Given the description of an element on the screen output the (x, y) to click on. 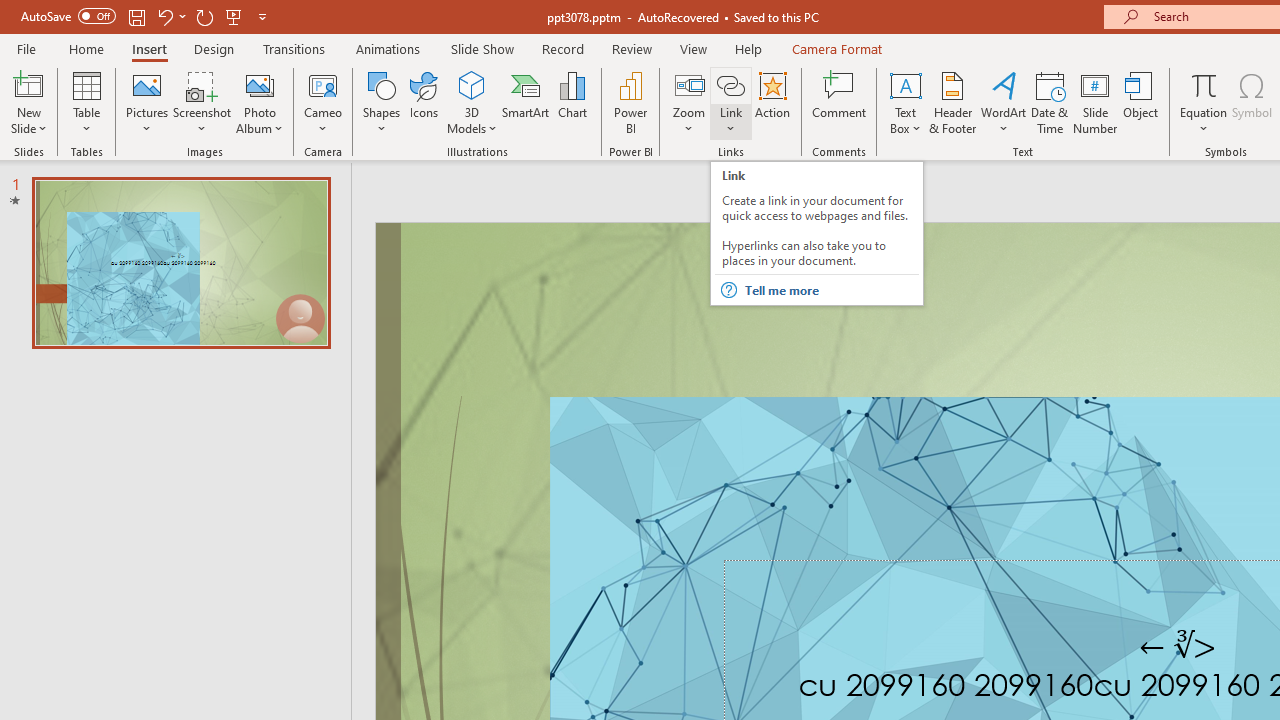
Equation (1203, 84)
From Beginning (234, 15)
Camera Format (836, 48)
Animations (388, 48)
Cameo (323, 84)
Customize Quick Access Toolbar (262, 15)
Review (631, 48)
Help (748, 48)
SmartArt... (525, 102)
Transitions (294, 48)
Undo (170, 15)
Record (562, 48)
Save (136, 15)
Pictures (147, 102)
